Given the description of an element on the screen output the (x, y) to click on. 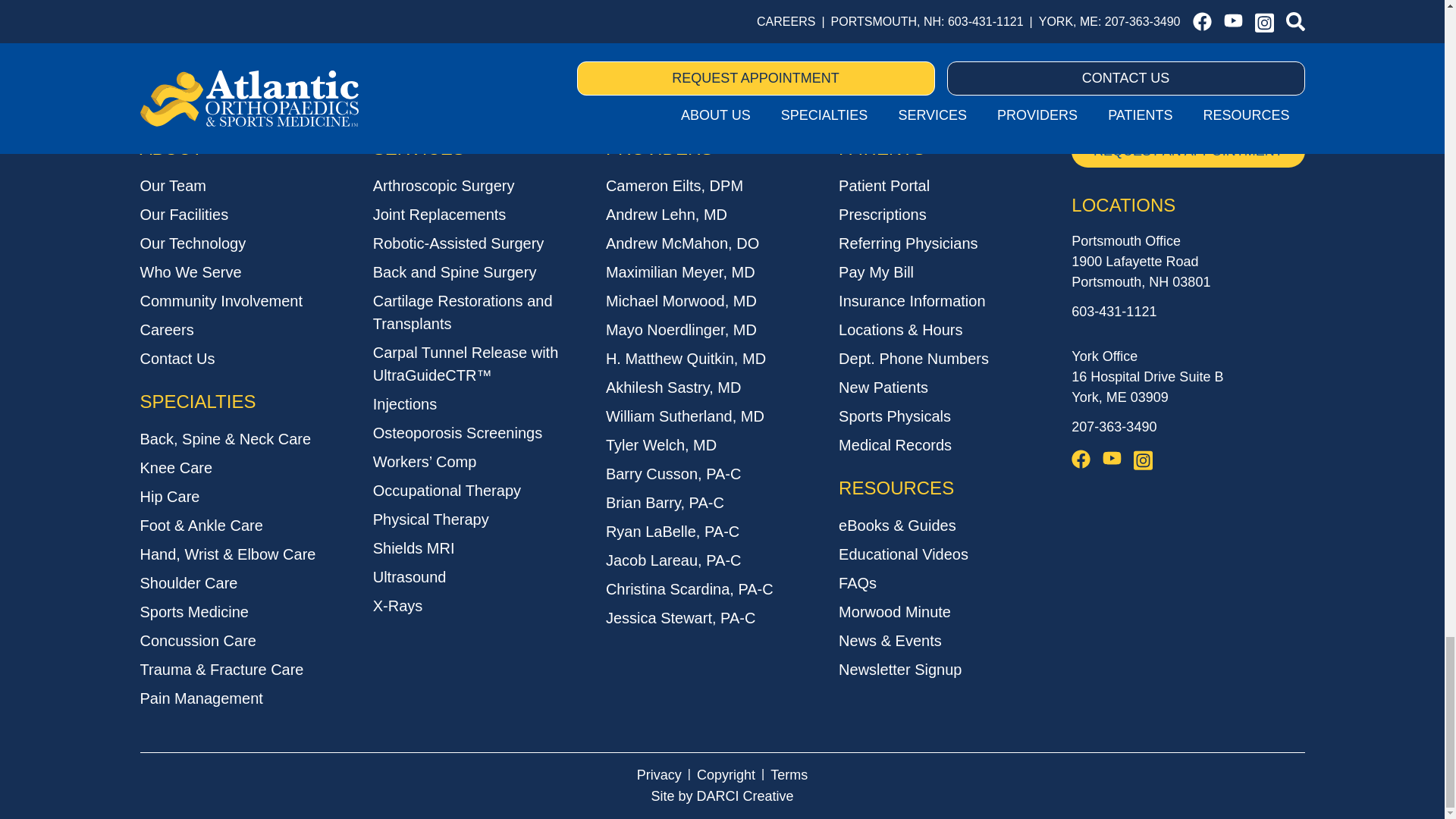
Sign Up! (1013, 39)
